Given the description of an element on the screen output the (x, y) to click on. 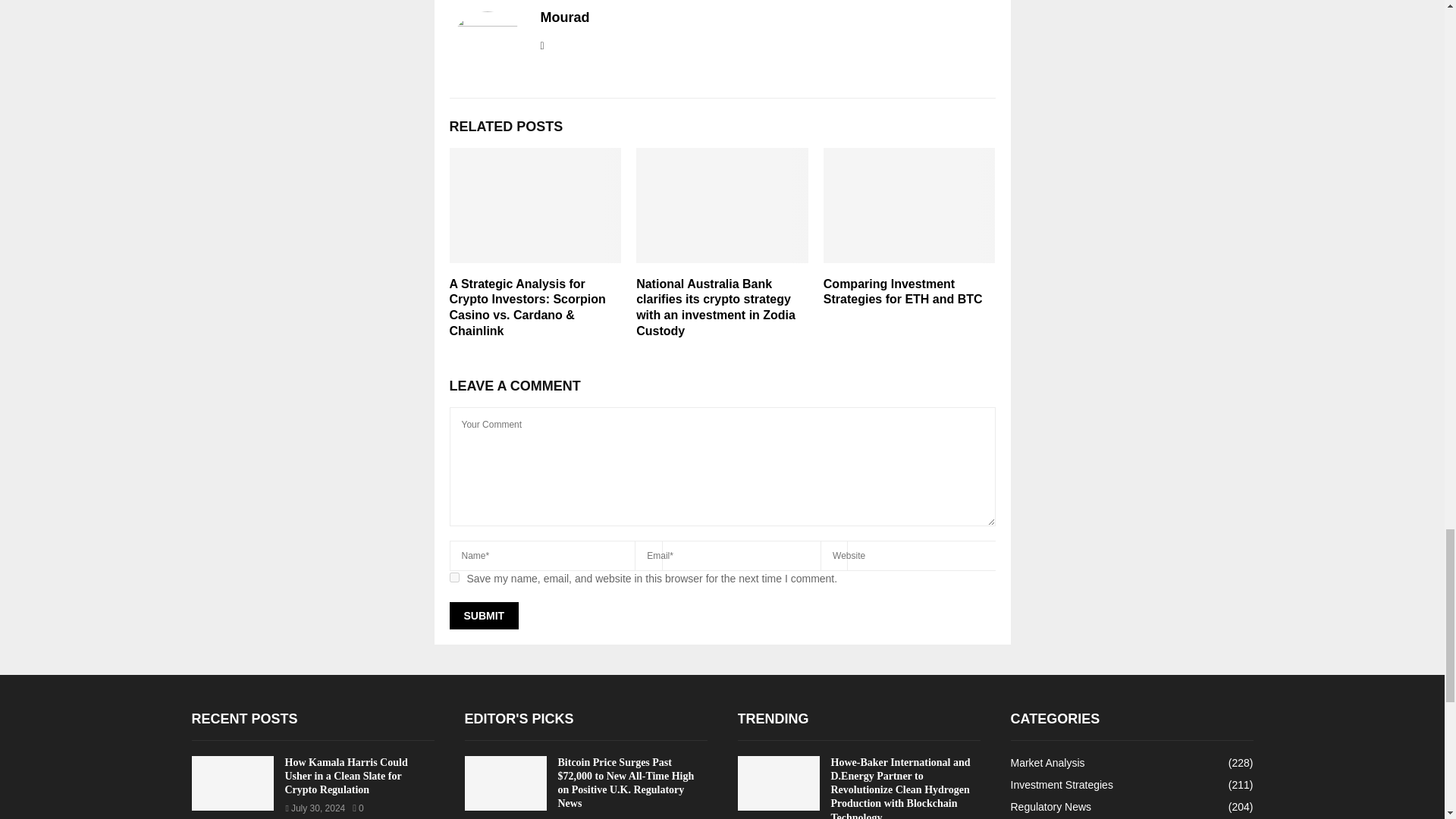
Submit (483, 615)
yes (453, 577)
